Given the description of an element on the screen output the (x, y) to click on. 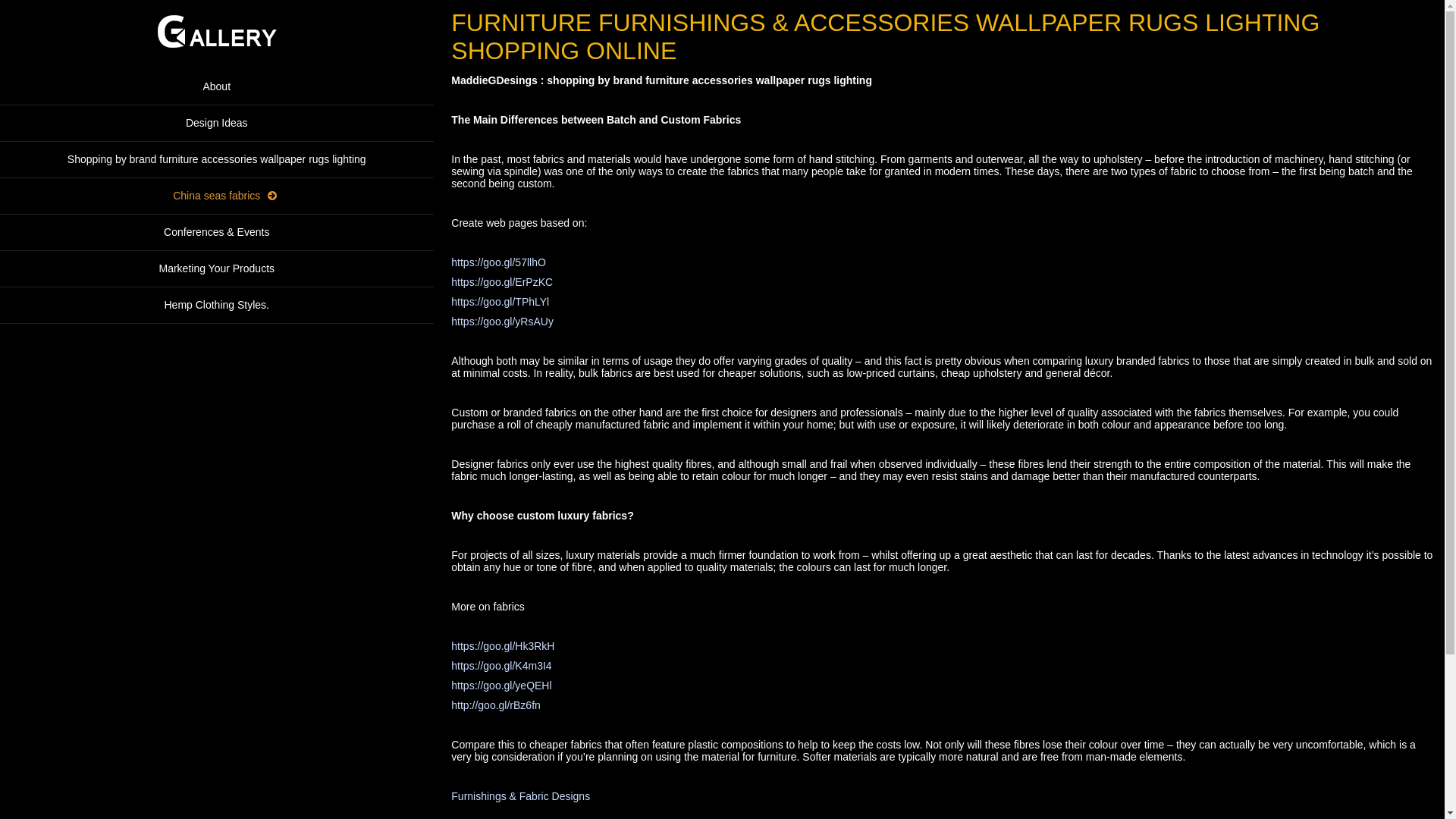
https://goo.gl/TPhLYl Element type: text (500, 301)
Marketing Your Products Element type: text (216, 269)
https://goo.gl/Hk3RkH Element type: text (502, 646)
Furnishings & Fabric Designs Element type: text (520, 796)
http://goo.gl/rBz6fn Element type: text (495, 705)
Conferences & Events Element type: text (216, 232)
https://goo.gl/yRsAUy Element type: text (502, 321)
eMarkets Element type: hover (216, 59)
https://goo.gl/yeQEHl Element type: text (501, 685)
China seas fabrics Element type: text (216, 196)
https://goo.gl/ErPzKC Element type: text (501, 282)
https://goo.gl/57llhO Element type: text (498, 262)
About Element type: text (216, 87)
https://goo.gl/K4m3I4 Element type: text (501, 665)
Hemp Clothing Styles. Element type: text (216, 305)
Design Ideas Element type: text (216, 123)
